Given the description of an element on the screen output the (x, y) to click on. 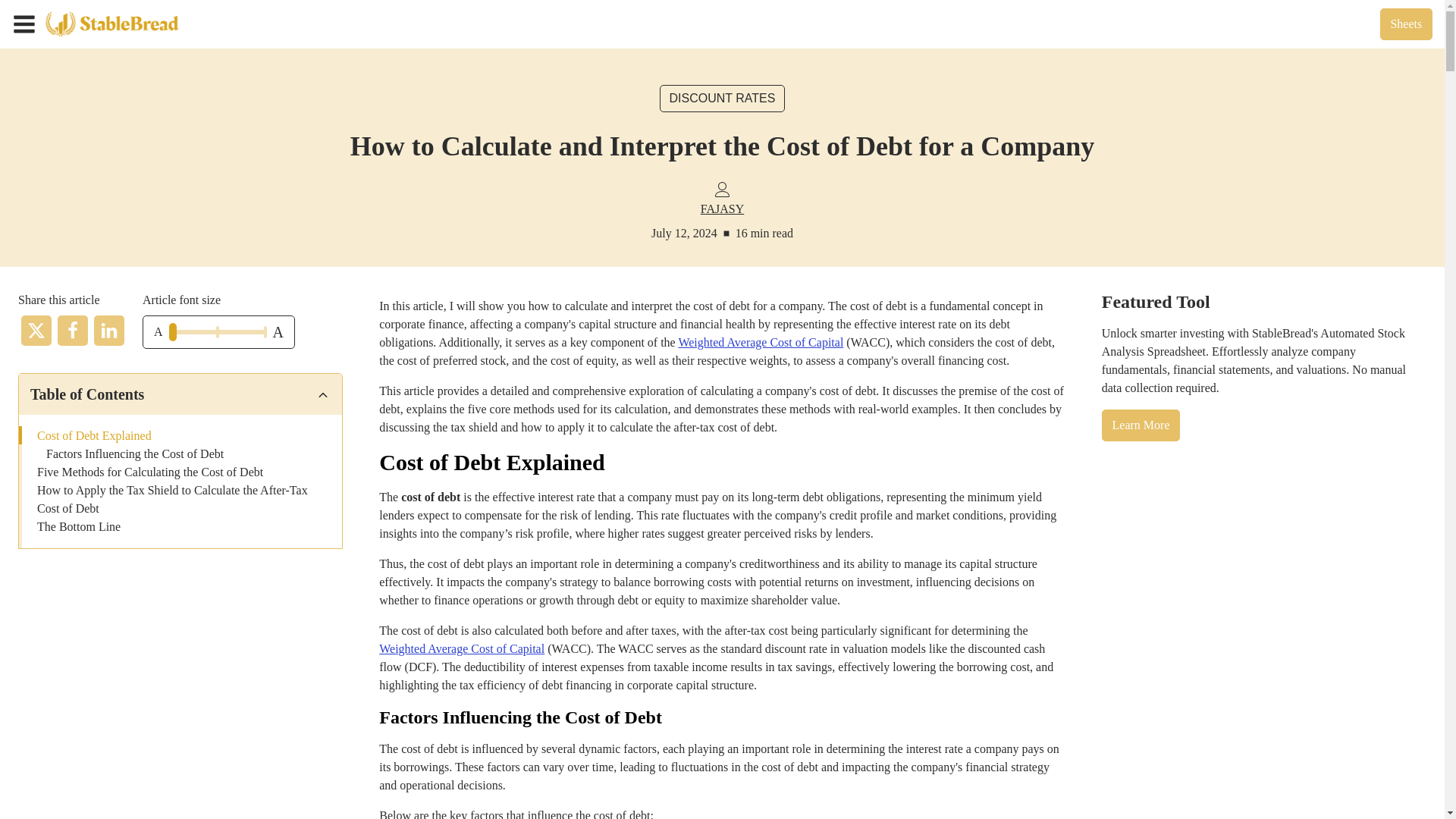
FAJASY (722, 208)
Sheets (1406, 24)
DISCOUNT RATES (722, 98)
16 (217, 332)
